Given the description of an element on the screen output the (x, y) to click on. 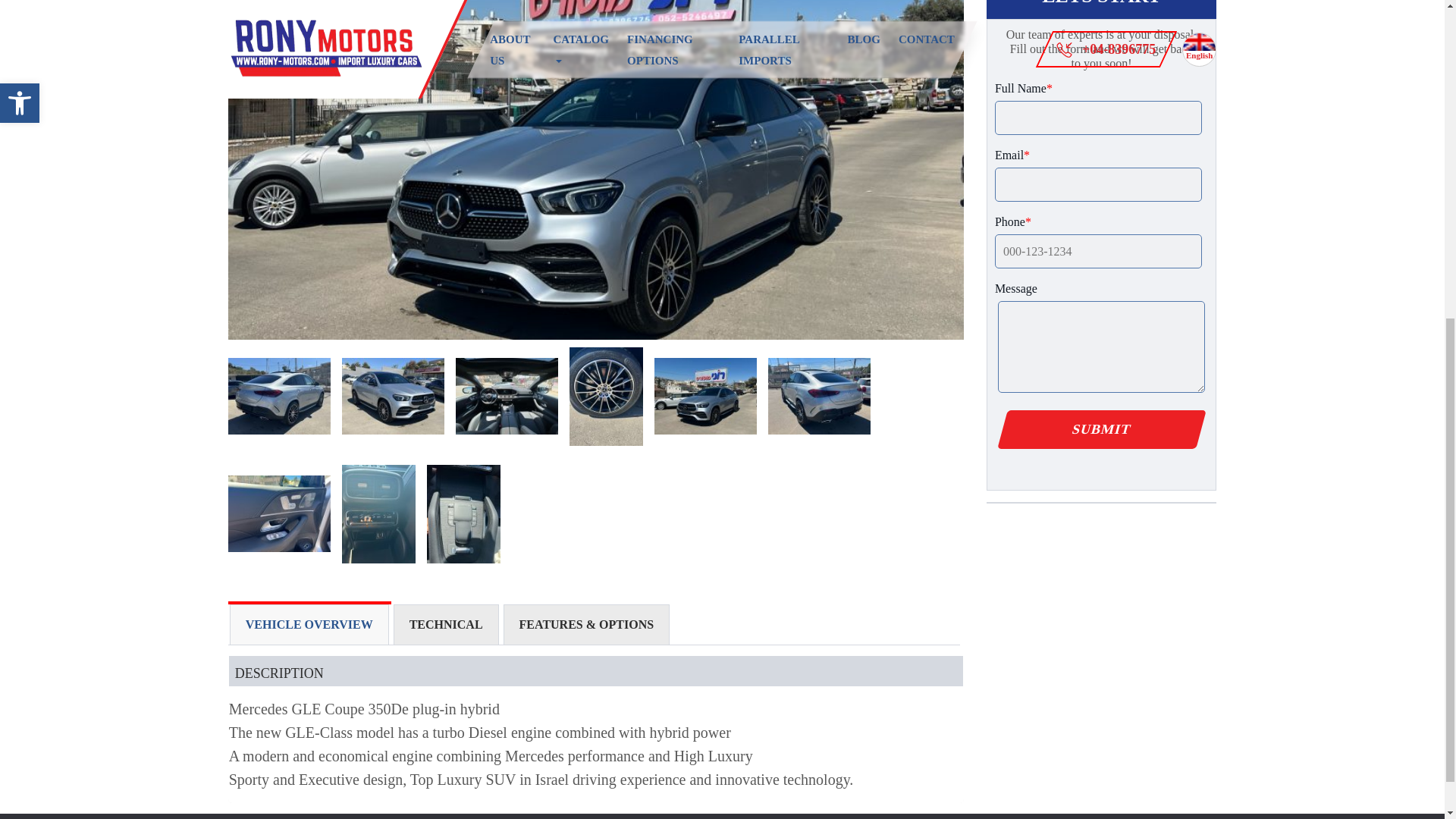
SUBMIT (1096, 429)
TECHNICAL (446, 624)
SUBMIT (1096, 429)
VEHICLE OVERVIEW (309, 624)
